Given the description of an element on the screen output the (x, y) to click on. 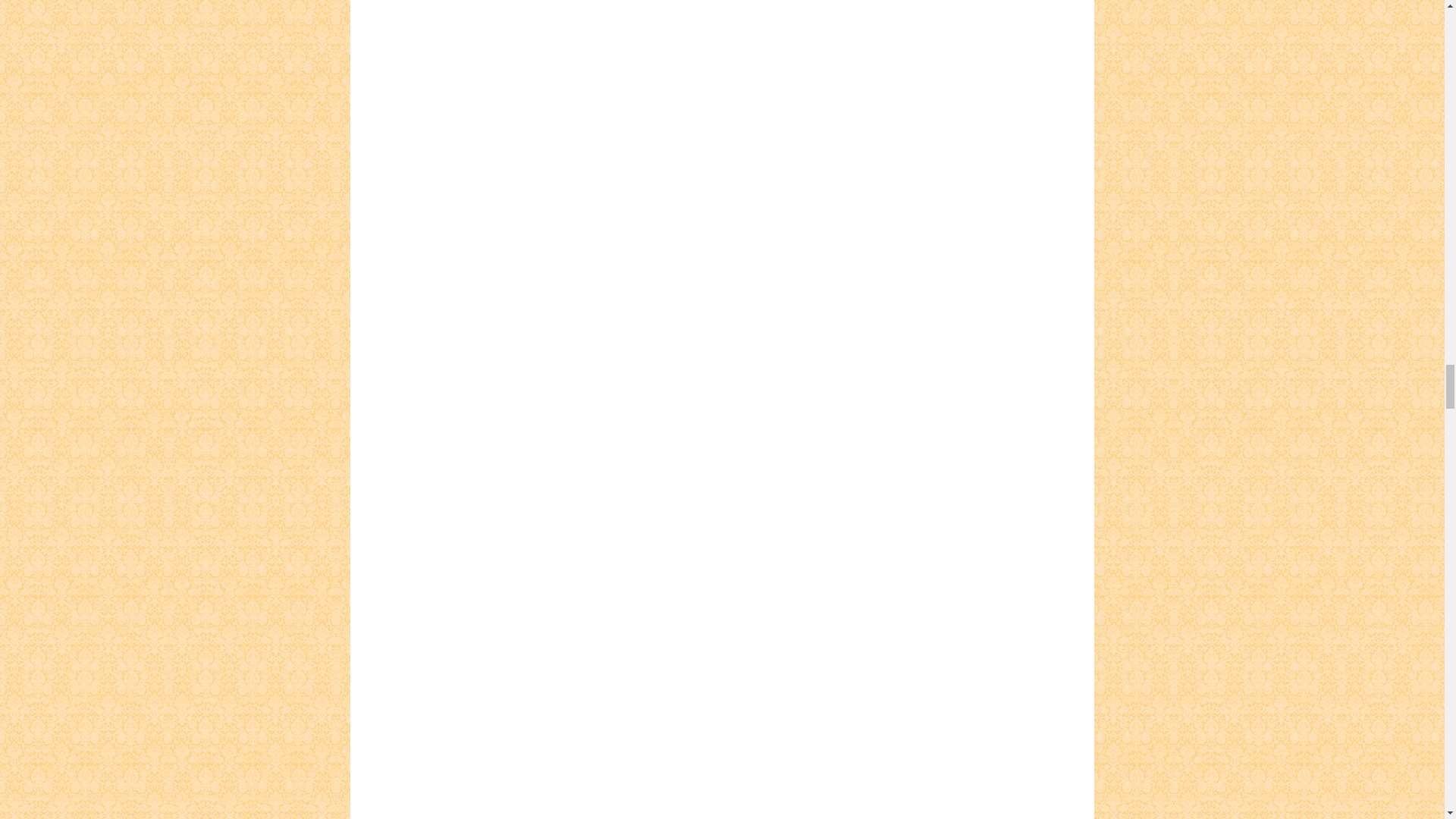
Connecticut beach photographer (699, 806)
Connecticut beach photographer (699, 55)
